Given the description of an element on the screen output the (x, y) to click on. 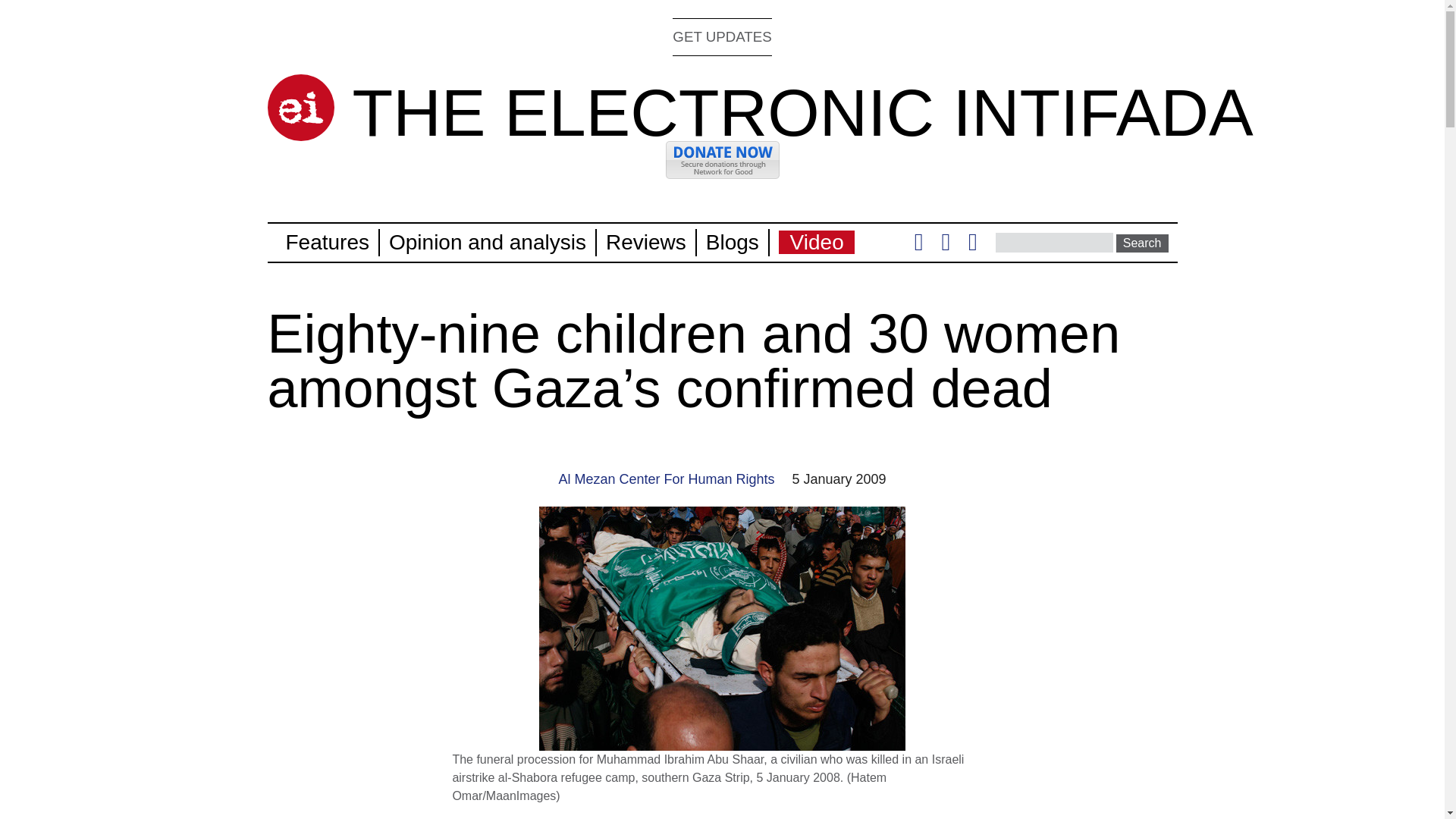
MaanImages (521, 795)
Enter the terms you wish to search for. (1054, 242)
Home (802, 112)
Blogs (732, 241)
Search (1142, 243)
Search (1142, 243)
Opinion and analysis (487, 241)
Video (817, 241)
GET UPDATES (721, 37)
THE ELECTRONIC INTIFADA (802, 112)
